Given the description of an element on the screen output the (x, y) to click on. 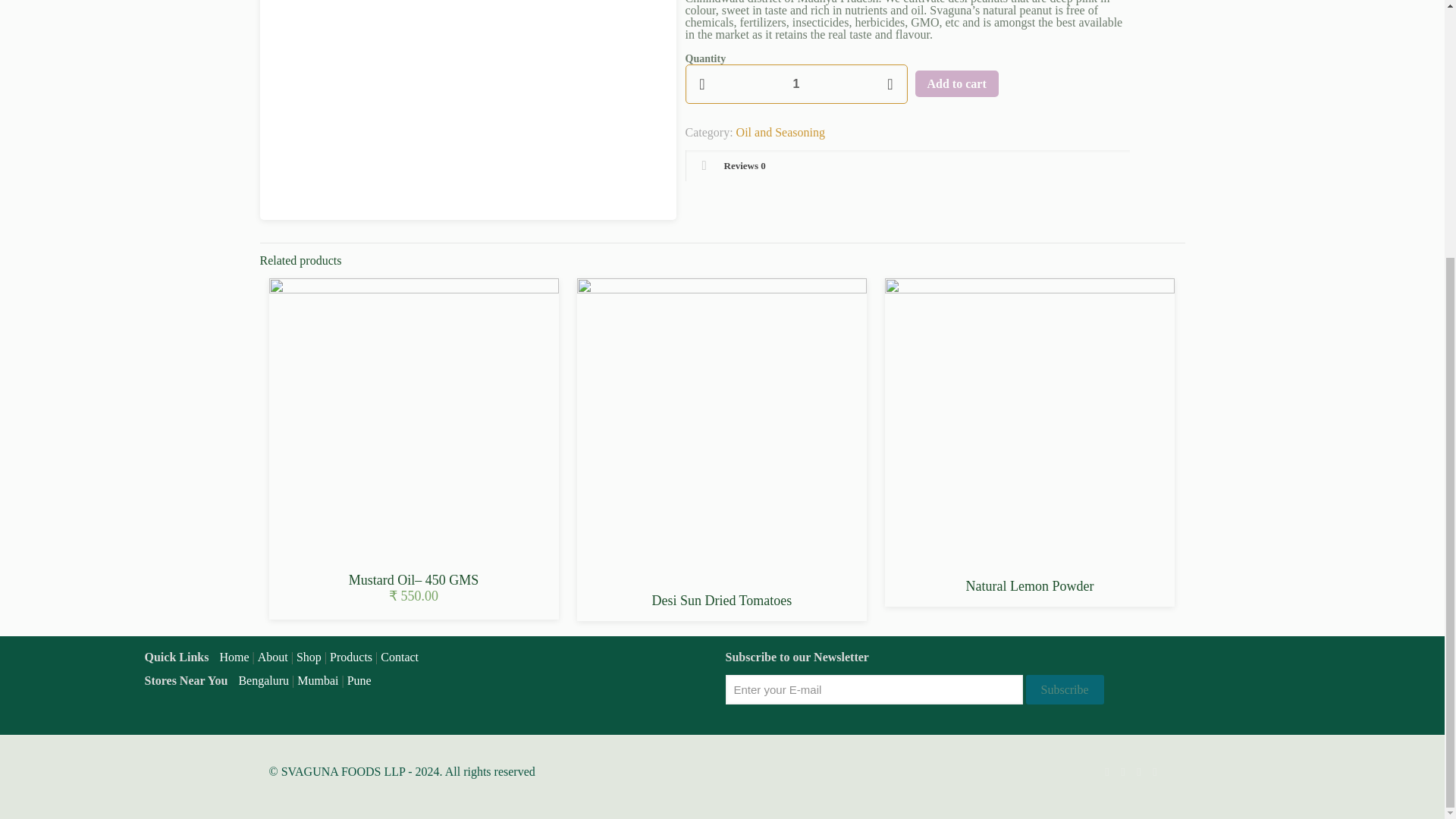
WhatsApp (1106, 771)
Facebook (1123, 771)
Subscribe (1064, 689)
1 (796, 84)
Instagram (1155, 771)
Qty (796, 84)
